Given the description of an element on the screen output the (x, y) to click on. 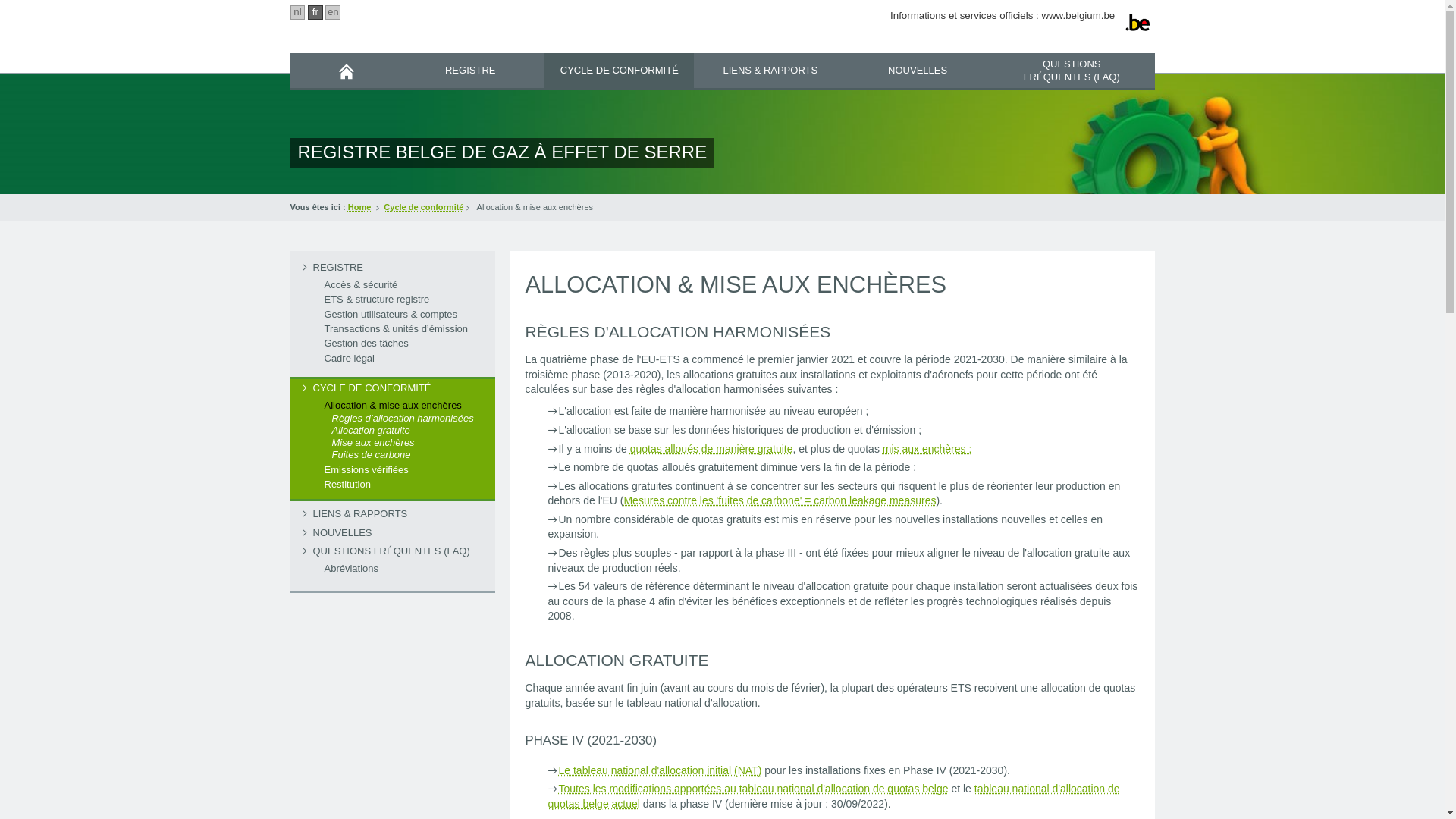
Allocation gratuite Element type: text (407, 430)
REGISTRE Element type: text (469, 70)
REGISTRE Element type: text (391, 267)
HOME Element type: text (346, 70)
LIENS & RAPPORTS Element type: text (769, 70)
tableau national d'allocation de quotas belge actuel Element type: text (833, 795)
NOUVELLES Element type: text (391, 533)
ETS & structure registre Element type: text (391, 299)
www.belgium.be Element type: text (1077, 15)
Le tableau national d'allocation initial (NAT) Element type: text (659, 770)
nl Element type: text (296, 12)
Fuites de carbone Element type: text (407, 454)
en Element type: text (332, 12)
Restitution Element type: text (391, 484)
Home Element type: text (359, 205)
Gestion utilisateurs & comptes Element type: text (391, 314)
fr Element type: text (315, 12)
NOUVELLES Element type: text (917, 70)
LIENS & RAPPORTS Element type: text (391, 514)
